Given the description of an element on the screen output the (x, y) to click on. 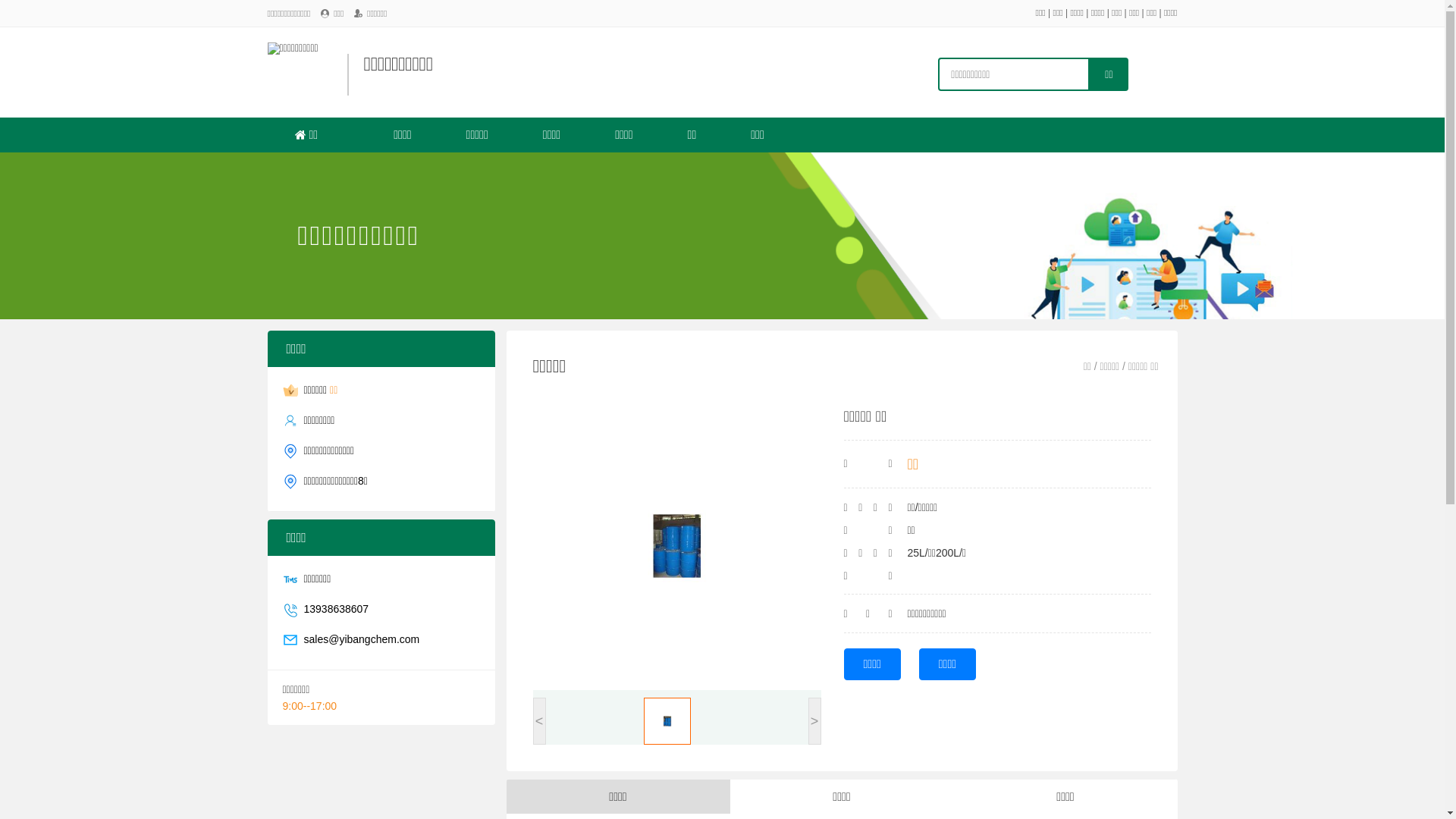
> Element type: text (814, 720)
< Element type: text (538, 720)
sales@yibangchem.com Element type: text (361, 638)
13938638607 Element type: text (335, 608)
